Given the description of an element on the screen output the (x, y) to click on. 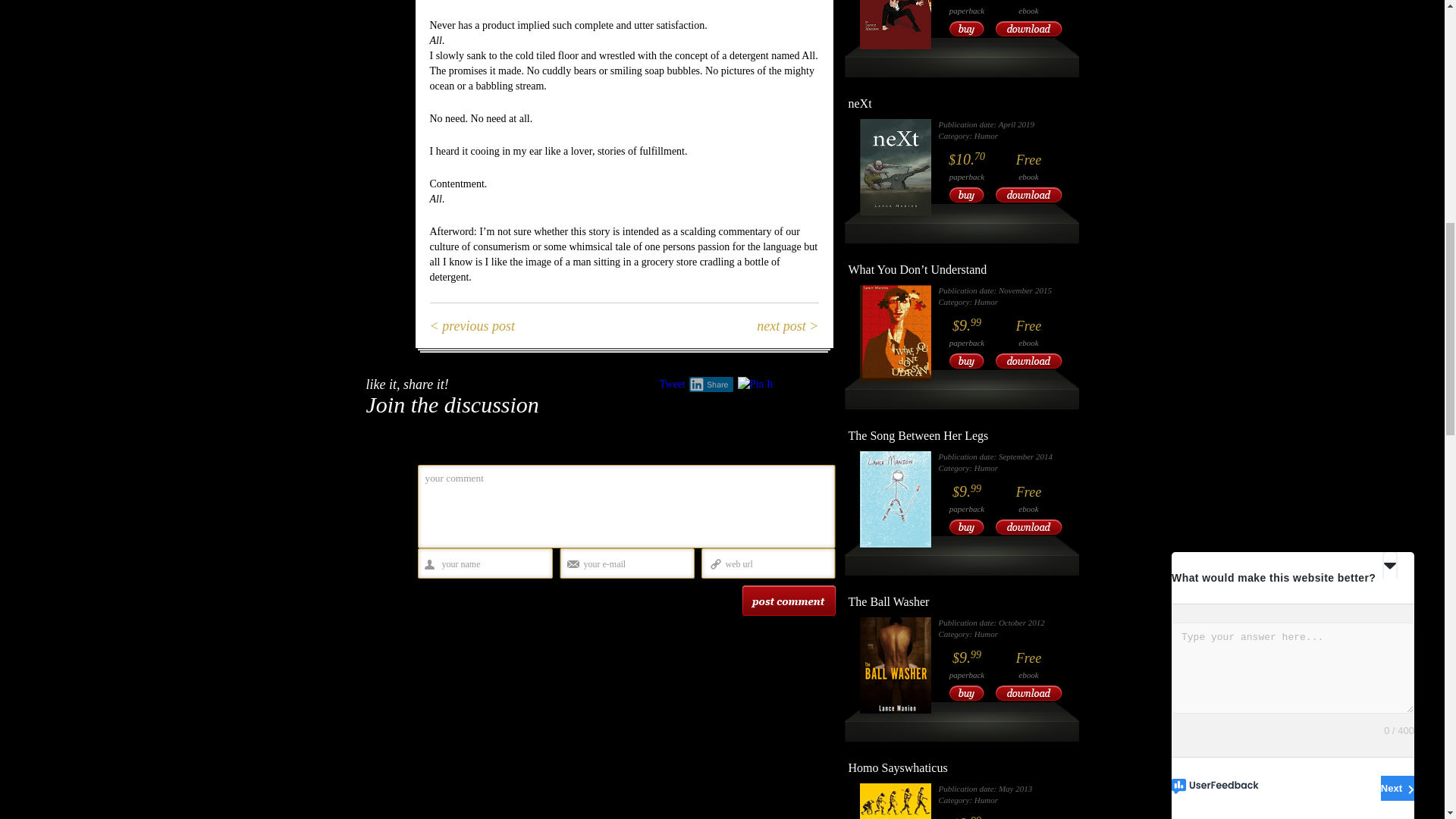
your e-mail (633, 563)
your name (490, 563)
web url (774, 563)
Pin It (755, 384)
Post Comment (787, 600)
